Given the description of an element on the screen output the (x, y) to click on. 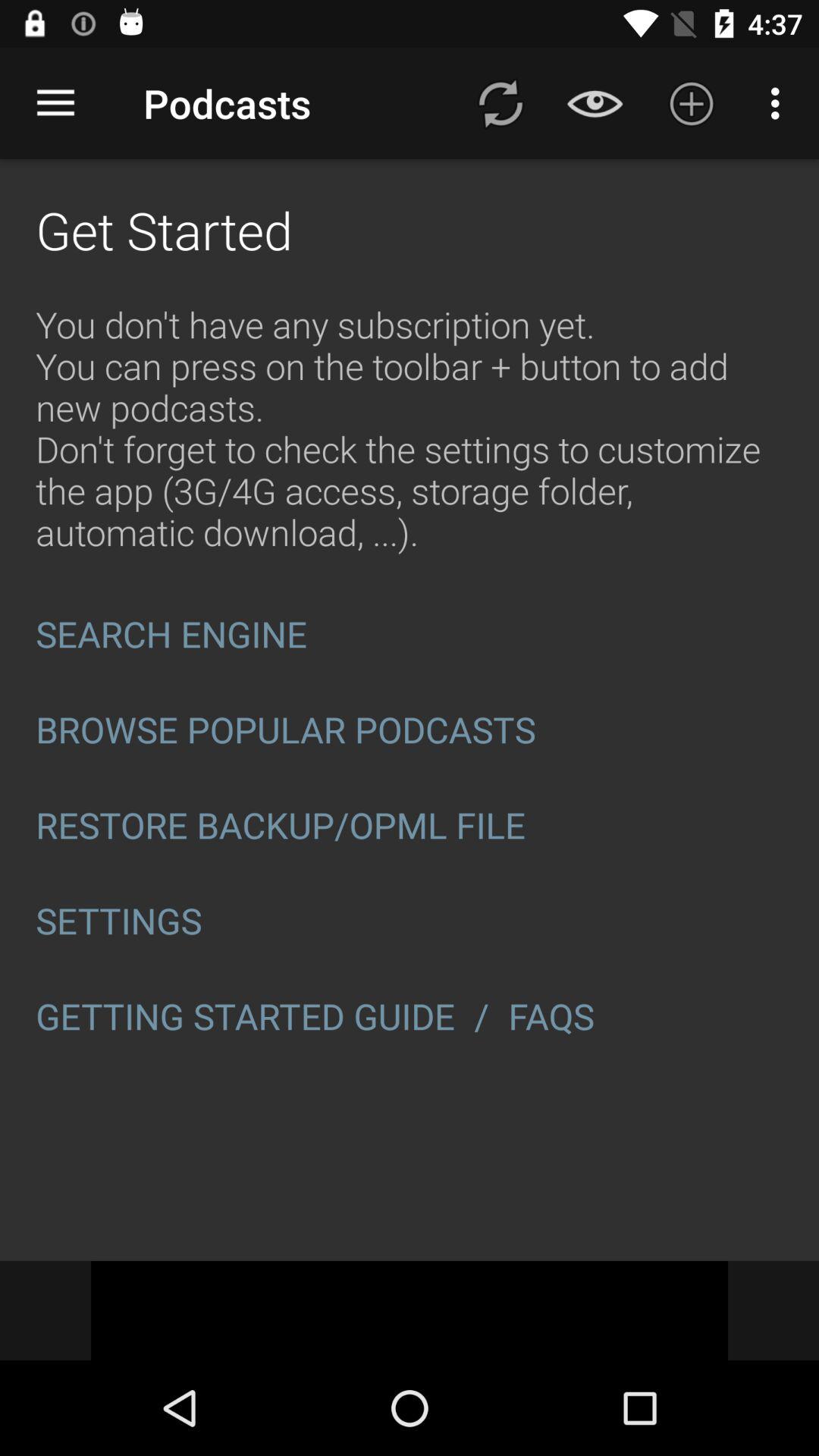
click icon to the left of the  /  icon (245, 1016)
